Given the description of an element on the screen output the (x, y) to click on. 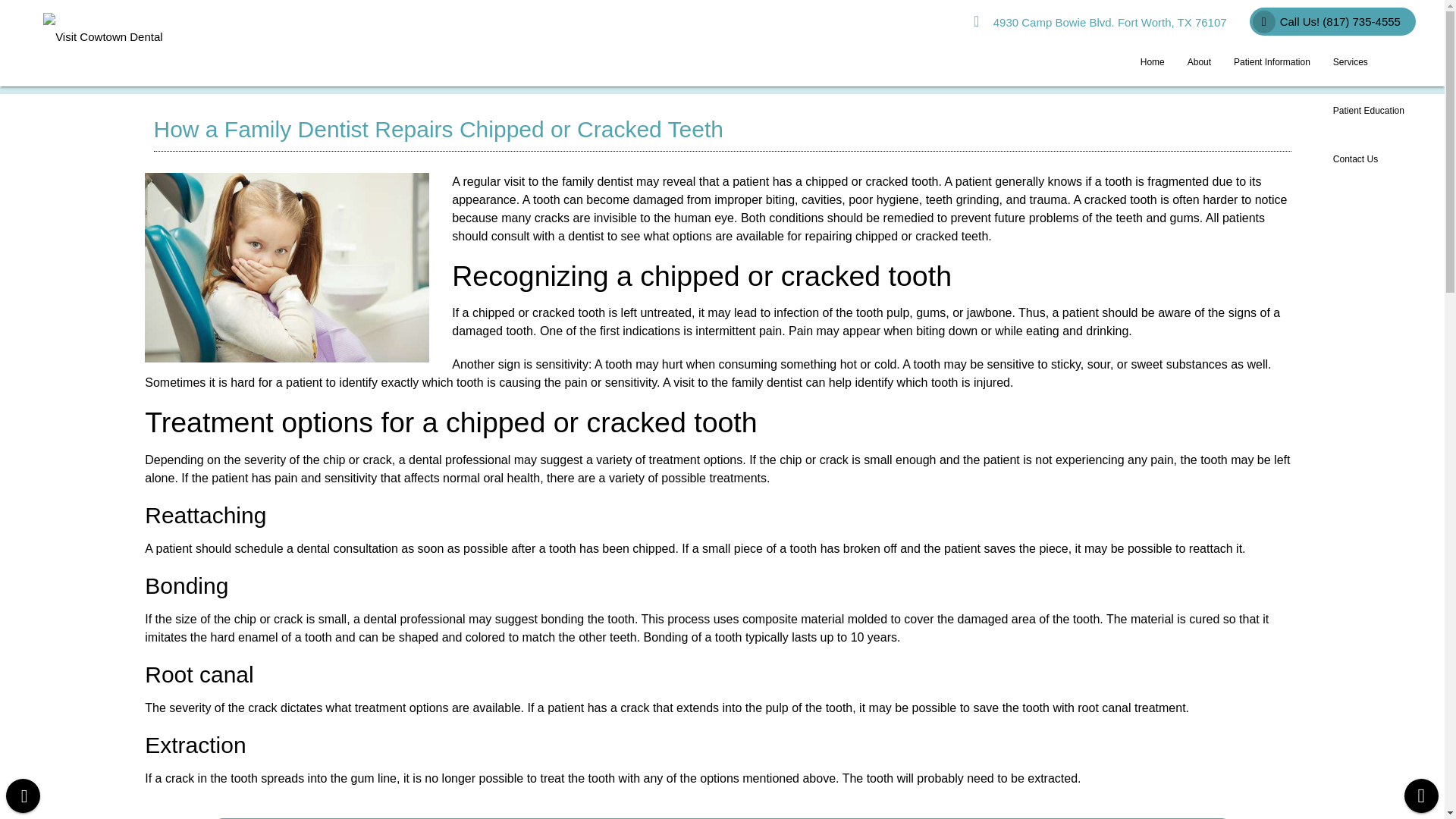
Patient Education Navigation (1368, 110)
Visit our Family Dentist page (596, 181)
  4930 Camp Bowie Blvd. Fort Worth, TX 76107 (1099, 22)
About (1199, 61)
family dentist (596, 181)
Visit our About Our Practice page (1199, 61)
Contact Us (1355, 159)
Visit our Home page (1152, 61)
Visit our Contact Us page (1355, 159)
Visit our Patient Information page (1272, 61)
Services (1368, 61)
Patient Education (1368, 110)
Directions to Cowtown Dental (1099, 22)
Patient Information (1272, 61)
Home (1152, 61)
